Given the description of an element on the screen output the (x, y) to click on. 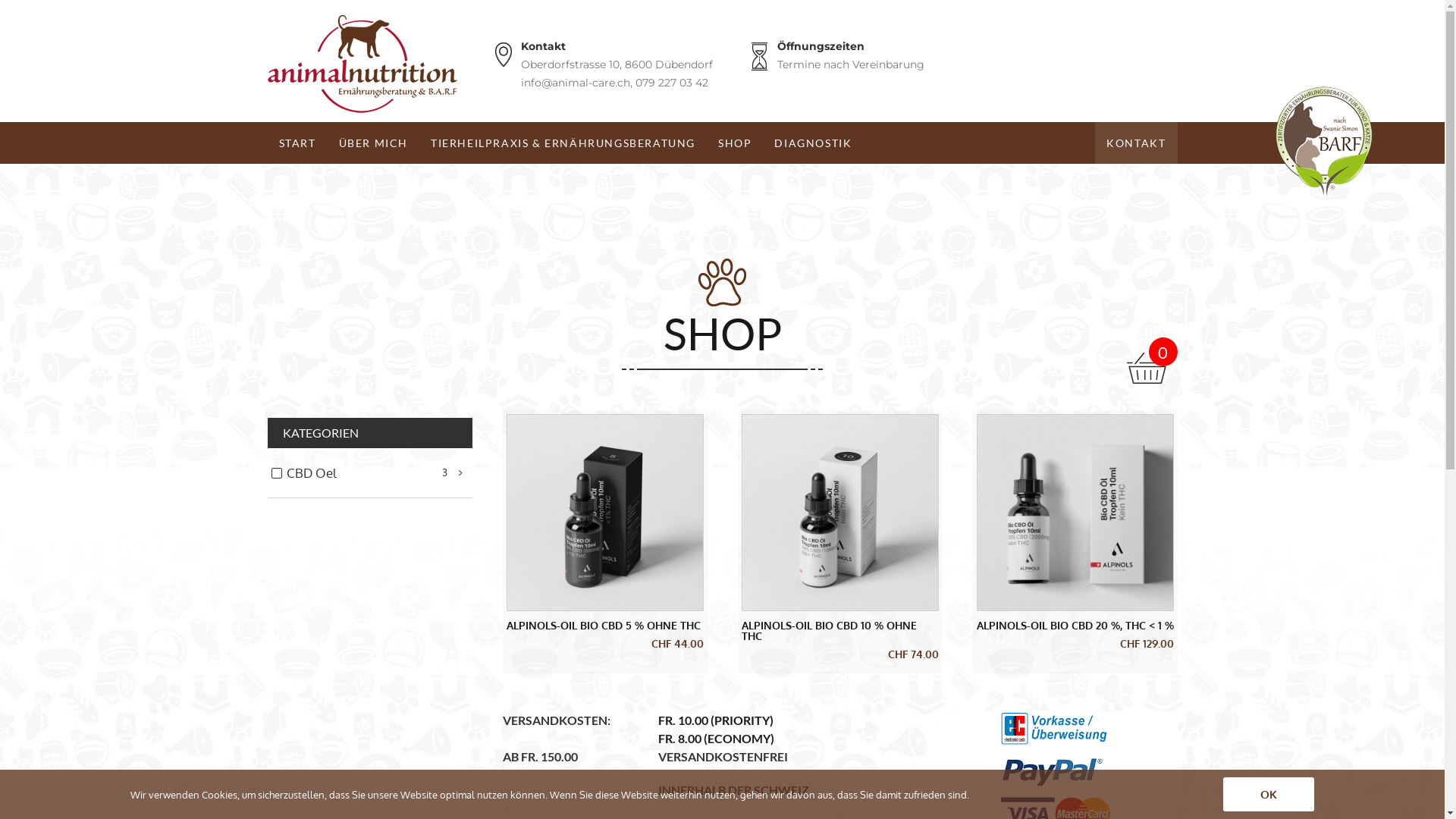
Alpinols 5 % Element type: hover (604, 512)
Gantry 5 Element type: hover (361, 63)
0 Element type: text (1151, 360)
alpinols 20 Element type: hover (1074, 512)
SHOP Element type: text (734, 142)
START Element type: text (296, 142)
079 227 03 42 Element type: text (671, 82)
DIAGNOSTIK Element type: text (812, 142)
OK Element type: text (1268, 794)
KONTAKT Element type: text (1135, 142)
info@animal-care.ch Element type: text (574, 82)
Alpinols 10 % Element type: hover (839, 512)
